Given the description of an element on the screen output the (x, y) to click on. 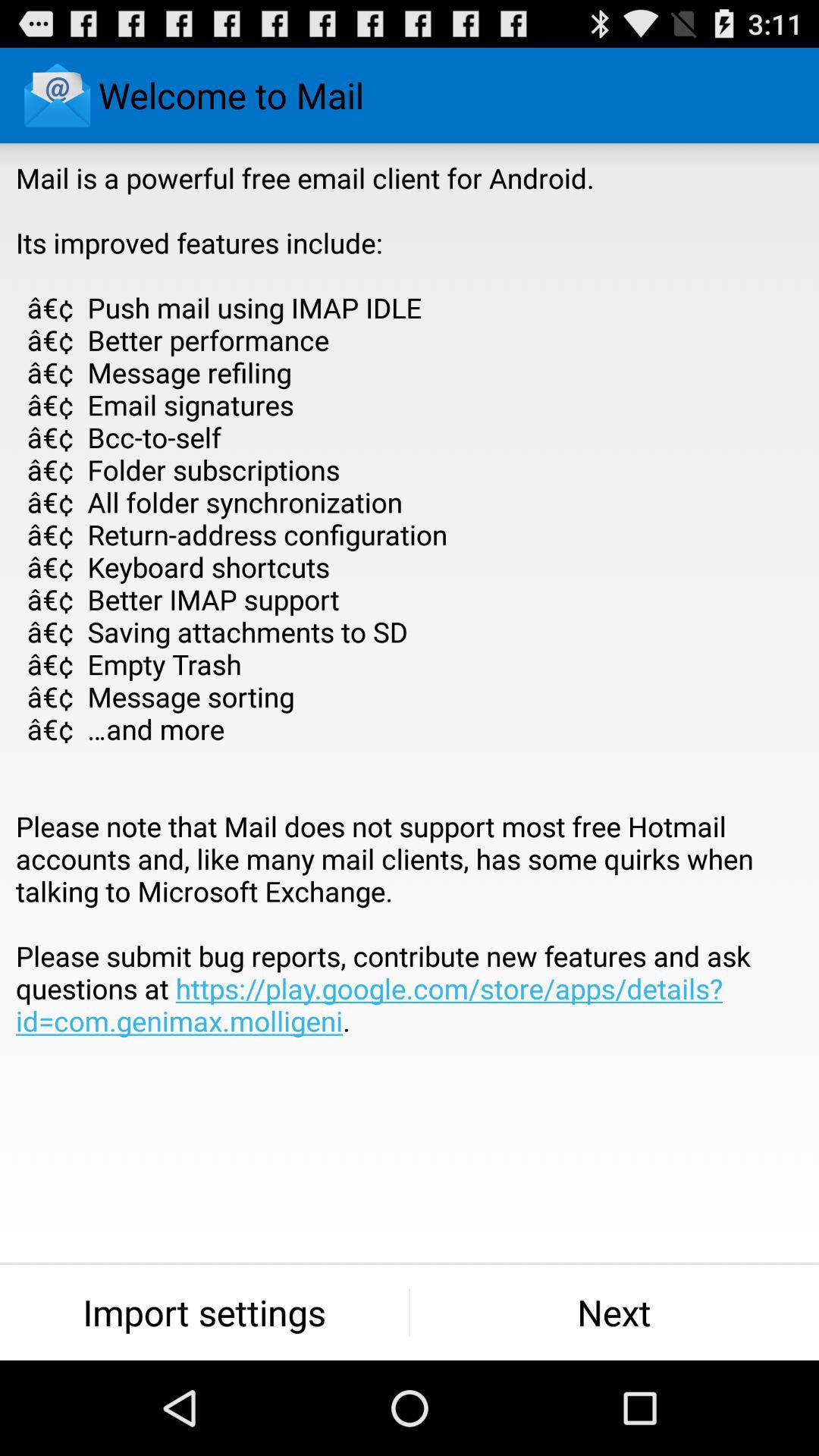
swipe to next item (614, 1312)
